Given the description of an element on the screen output the (x, y) to click on. 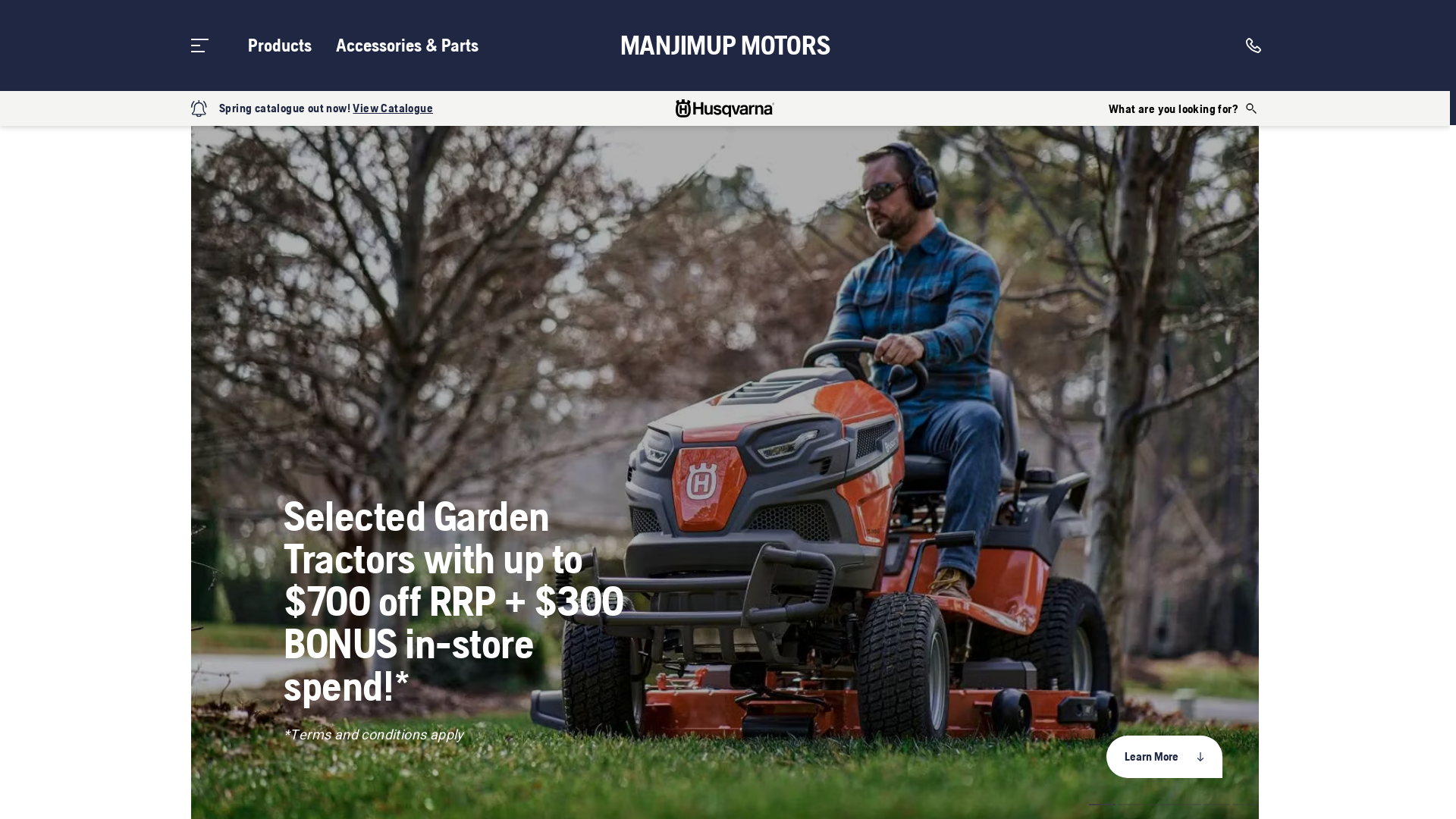
What are you looking for? Element type: text (1183, 108)
MANJIMUP MOTORS Element type: text (725, 45)
View Catalogue Element type: text (392, 107)
Accessories & Parts Element type: text (406, 45)
Learn More Element type: text (1164, 756)
Products Element type: text (279, 45)
